Given the description of an element on the screen output the (x, y) to click on. 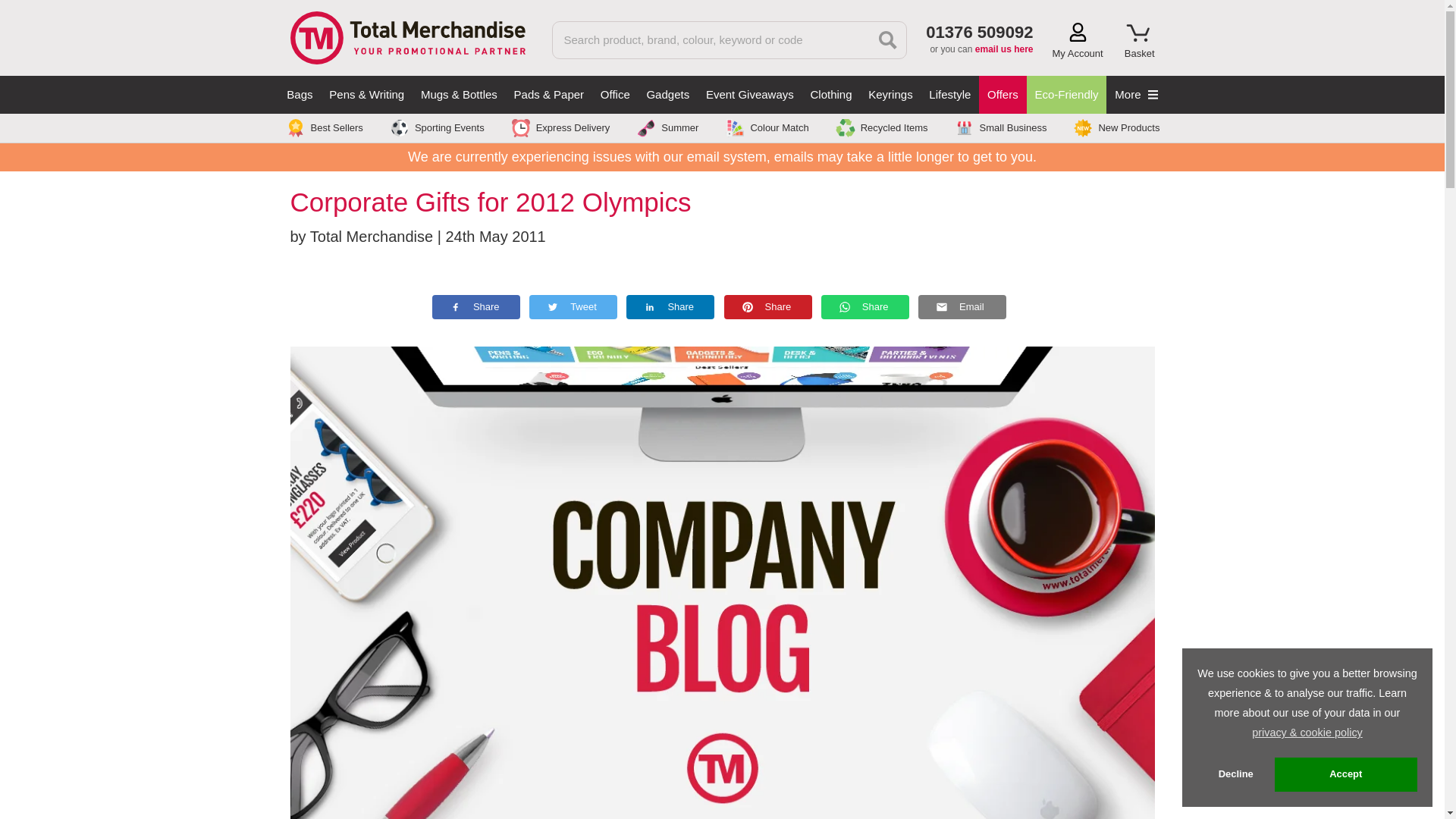
Submit your search (888, 39)
Get in touch (1004, 49)
01376 509092 (979, 31)
Total Merchandise (406, 35)
My Account (1077, 41)
Promotional Bags (300, 94)
Bags (300, 94)
email us here (1004, 49)
